Given the description of an element on the screen output the (x, y) to click on. 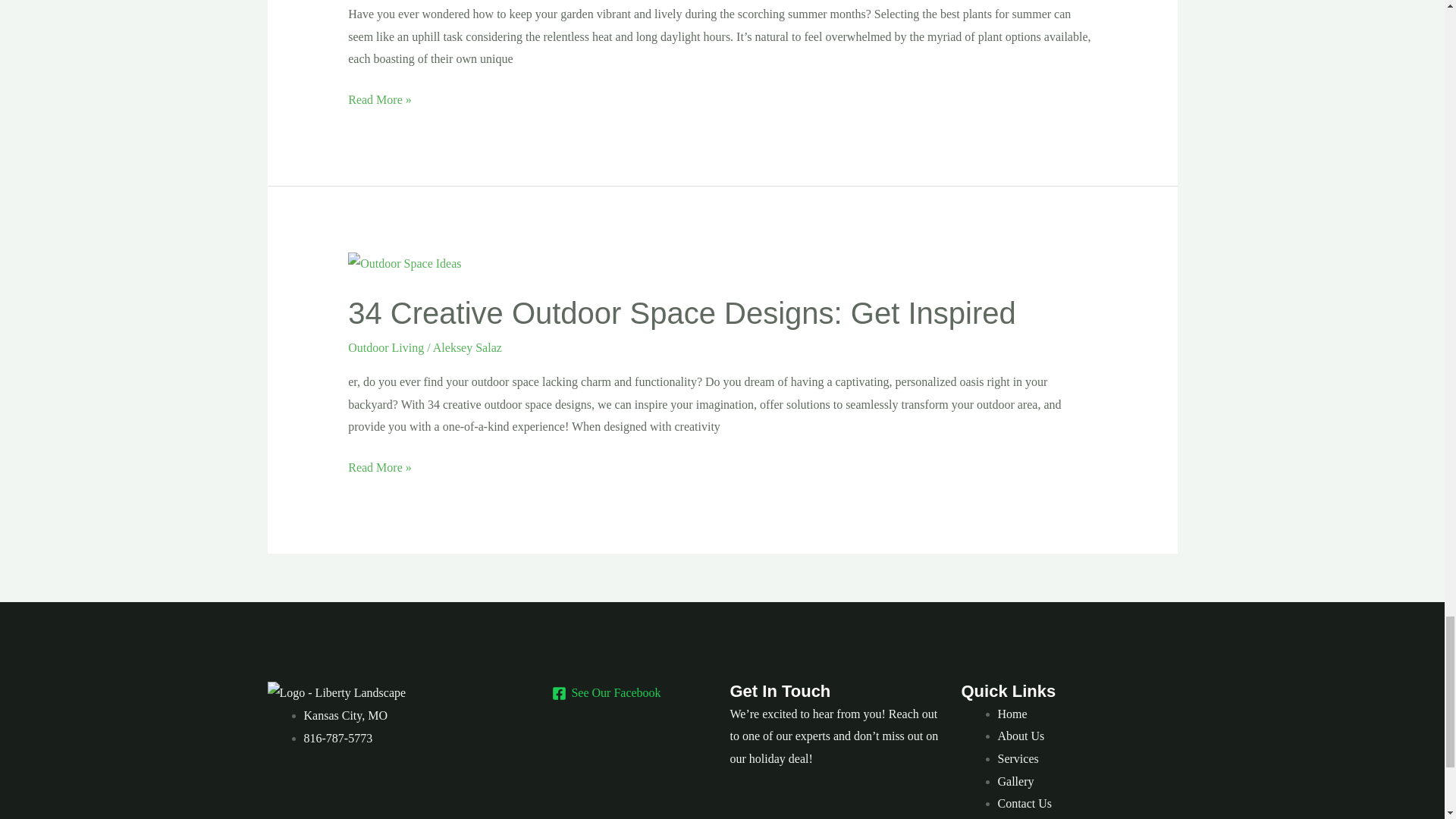
View all posts by Aleksey Salaz (467, 347)
